Given the description of an element on the screen output the (x, y) to click on. 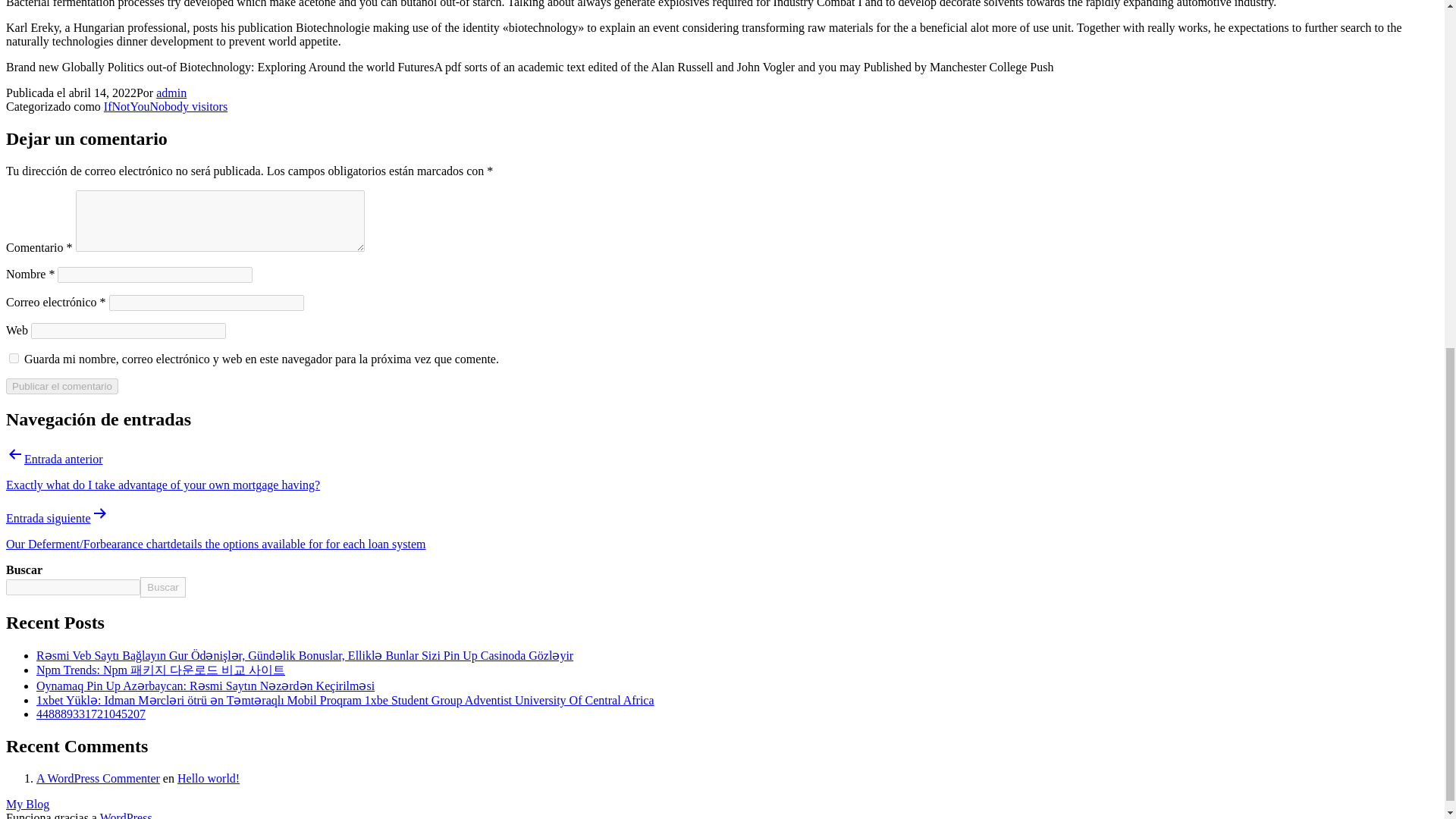
448889331721045207 (90, 713)
Publicar el comentario (61, 385)
IfNotYouNobody visitors (165, 106)
Publicar el comentario (61, 385)
admin (170, 92)
Hello world! (208, 778)
A WordPress Commenter (98, 778)
My Blog (27, 803)
Buscar (162, 587)
yes (13, 357)
